Given the description of an element on the screen output the (x, y) to click on. 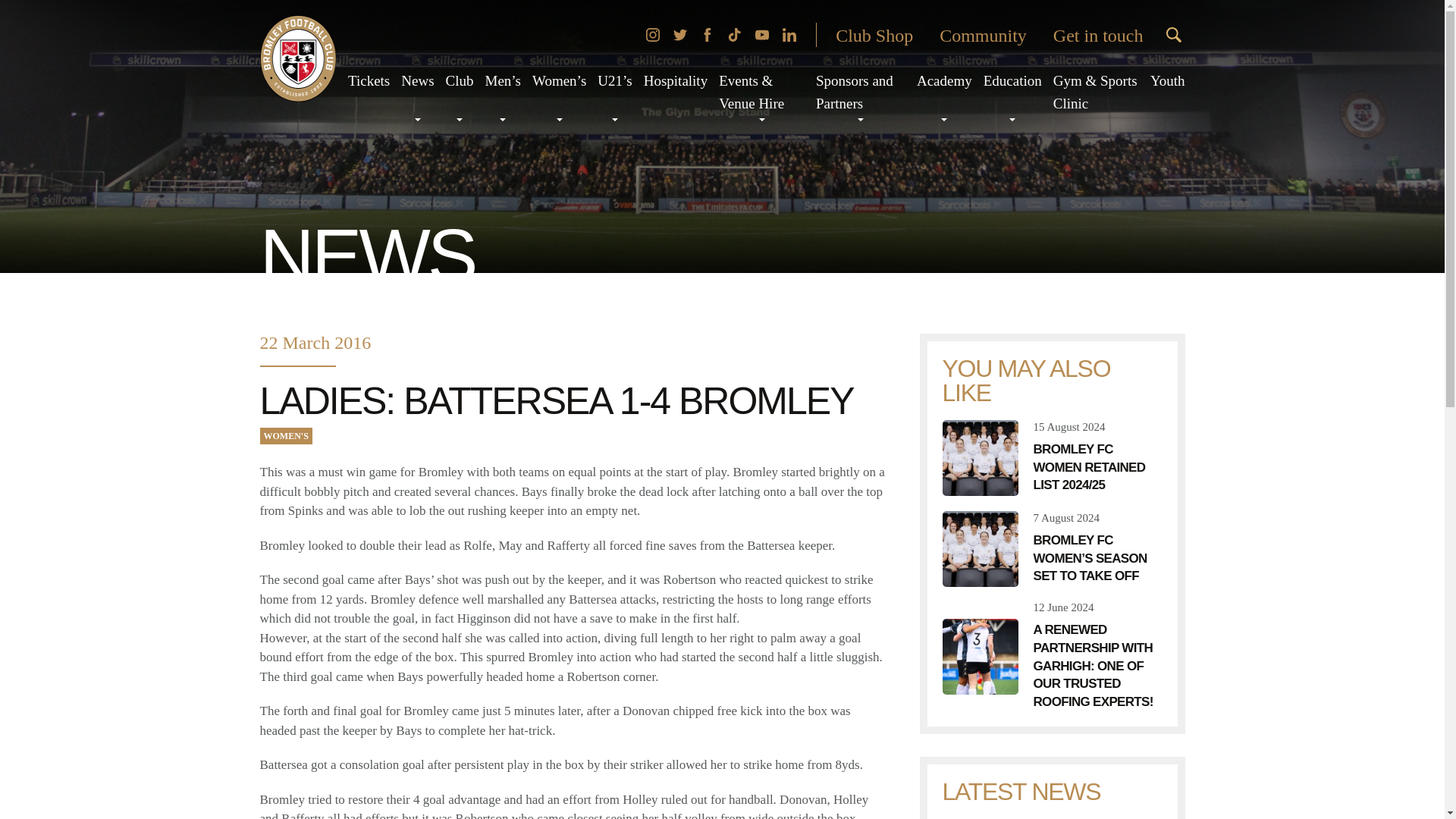
LinkedIn (788, 34)
News (417, 80)
Search (1173, 34)
Get in touch (1097, 35)
Facebook (707, 34)
Club Shop (873, 35)
TikTok (734, 34)
Twitter (679, 34)
Tickets (368, 80)
Community (982, 35)
